Given the description of an element on the screen output the (x, y) to click on. 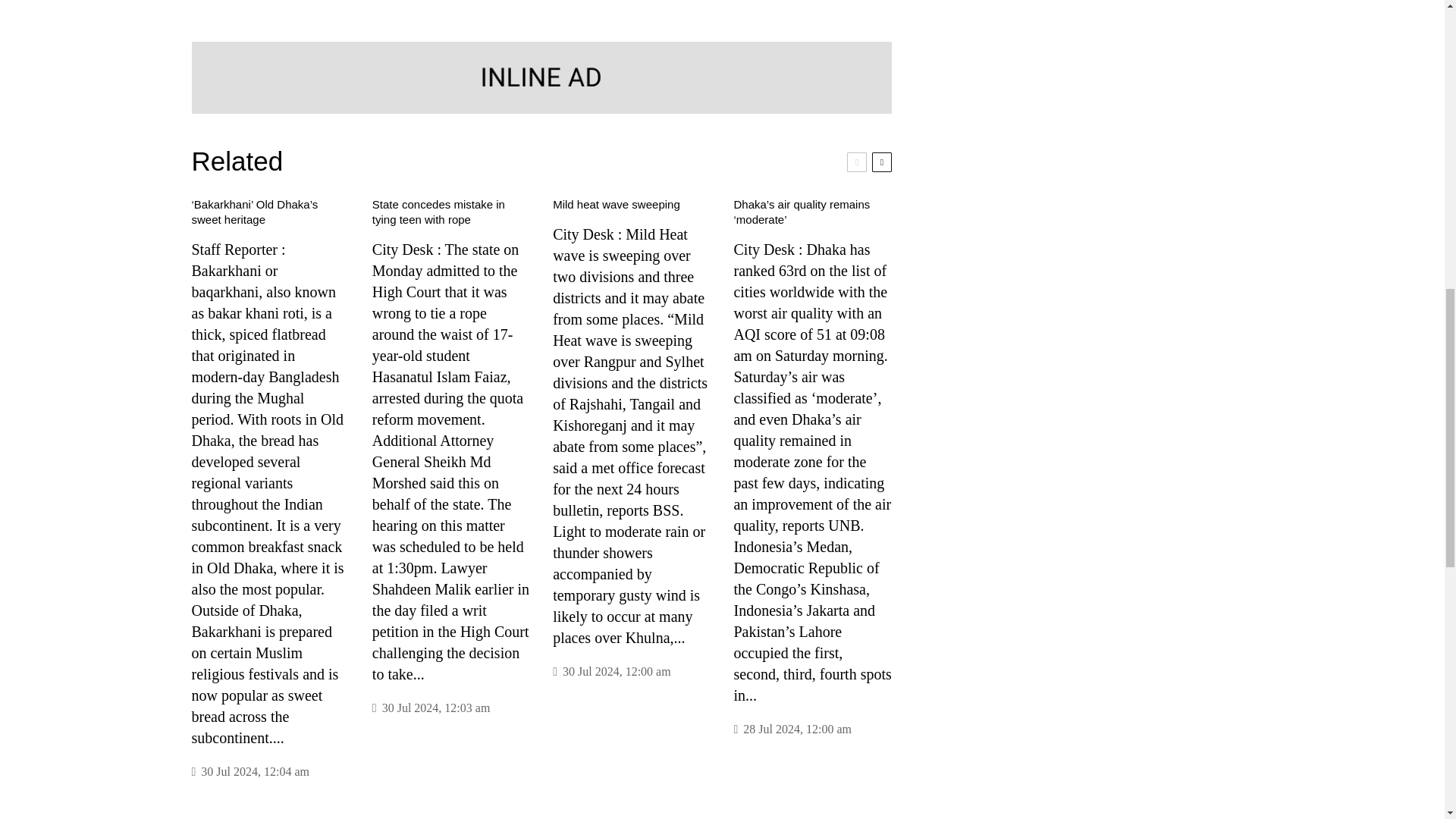
Mild heat wave sweeping (616, 204)
State concedes mistake in tying teen with rope (450, 212)
